Given the description of an element on the screen output the (x, y) to click on. 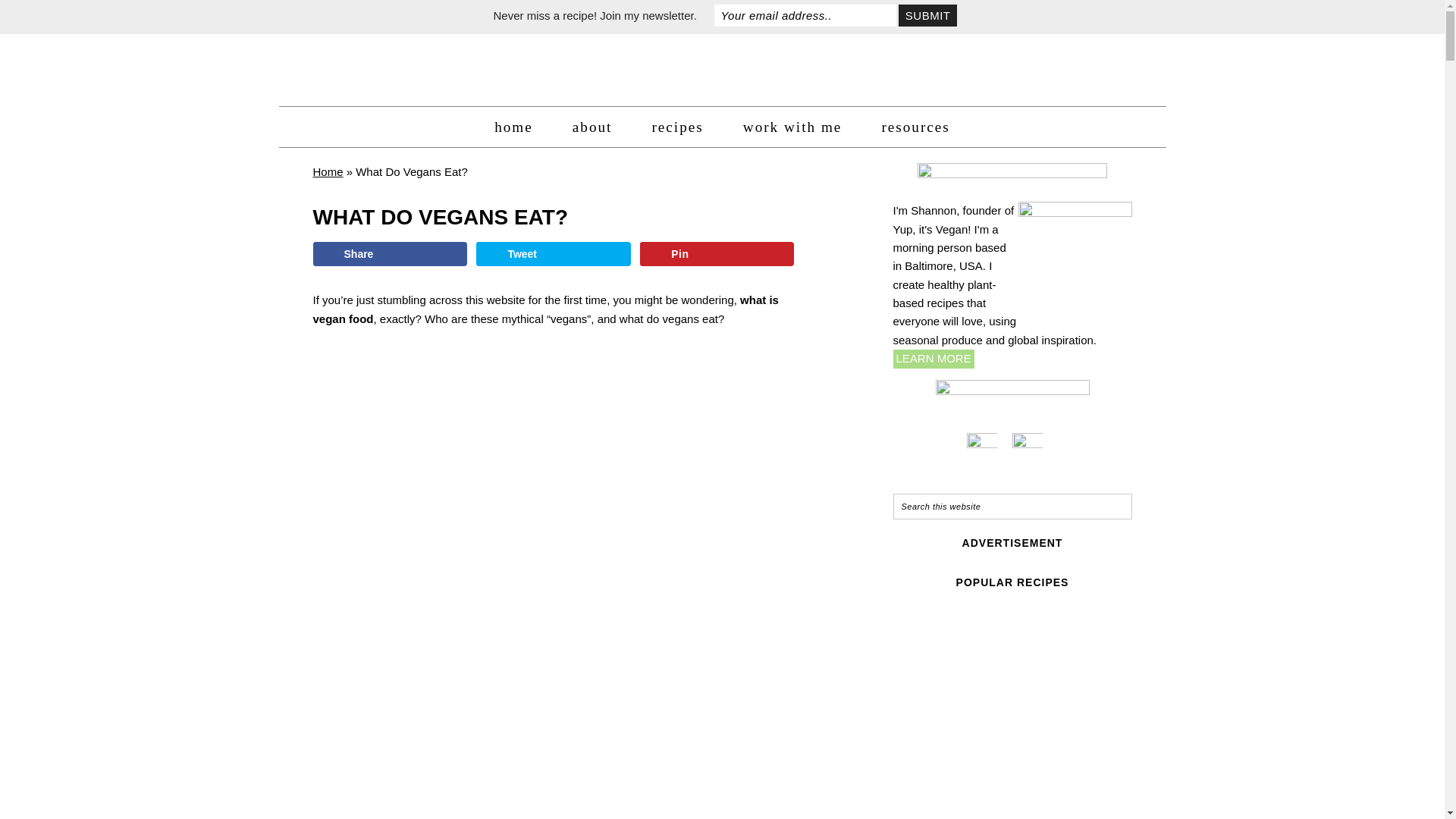
10-Minute Garlic Sesame Noodles (951, 775)
Save to Pinterest (716, 253)
work with me (792, 127)
Turmeric Chickpea Stew (1072, 656)
Submit (927, 15)
Pin (716, 253)
Home (327, 171)
resources (914, 127)
Creamy Vegan Wild Rice Soup (951, 656)
home (513, 127)
Share (389, 253)
Hot Vegan Spinach Artichoke Dip (1072, 775)
recipes (676, 127)
about (592, 127)
